Given the description of an element on the screen output the (x, y) to click on. 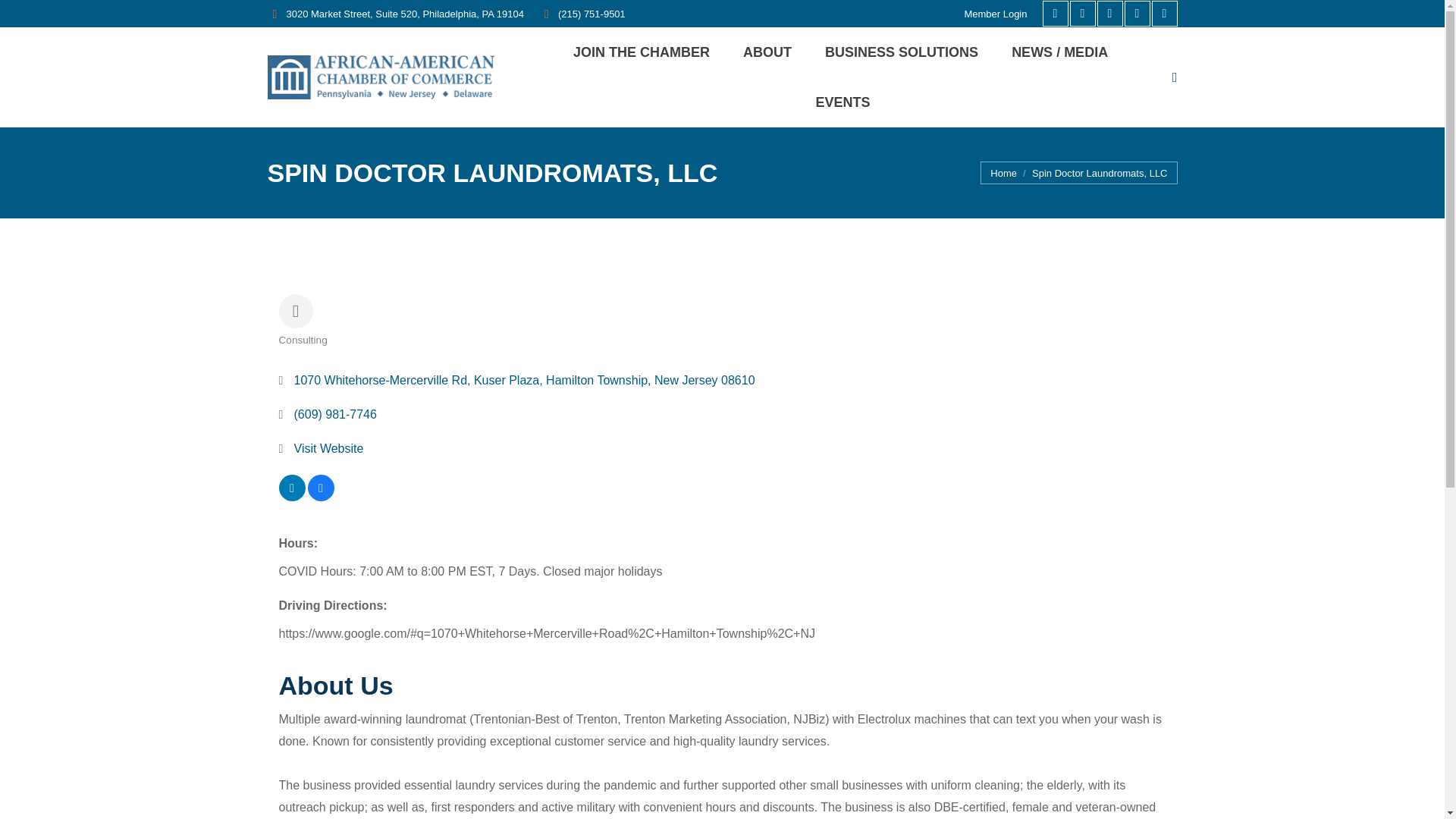
Instagram page opens in new window (1081, 13)
Instagram page opens in new window (1081, 13)
YouTube page opens in new window (1163, 13)
Facebook page opens in new window (1054, 13)
YouTube page opens in new window (1163, 13)
Linkedin page opens in new window (1137, 13)
ABOUT (770, 51)
EVENTS (846, 101)
X page opens in new window (1109, 13)
Facebook page opens in new window (1054, 13)
Member Login (994, 12)
3020 Market Street, Suite 520, Philadelphia, PA 19104 (394, 12)
JOIN THE CHAMBER (645, 51)
BUSINESS SOLUTIONS (904, 51)
X page opens in new window (1109, 13)
